Given the description of an element on the screen output the (x, y) to click on. 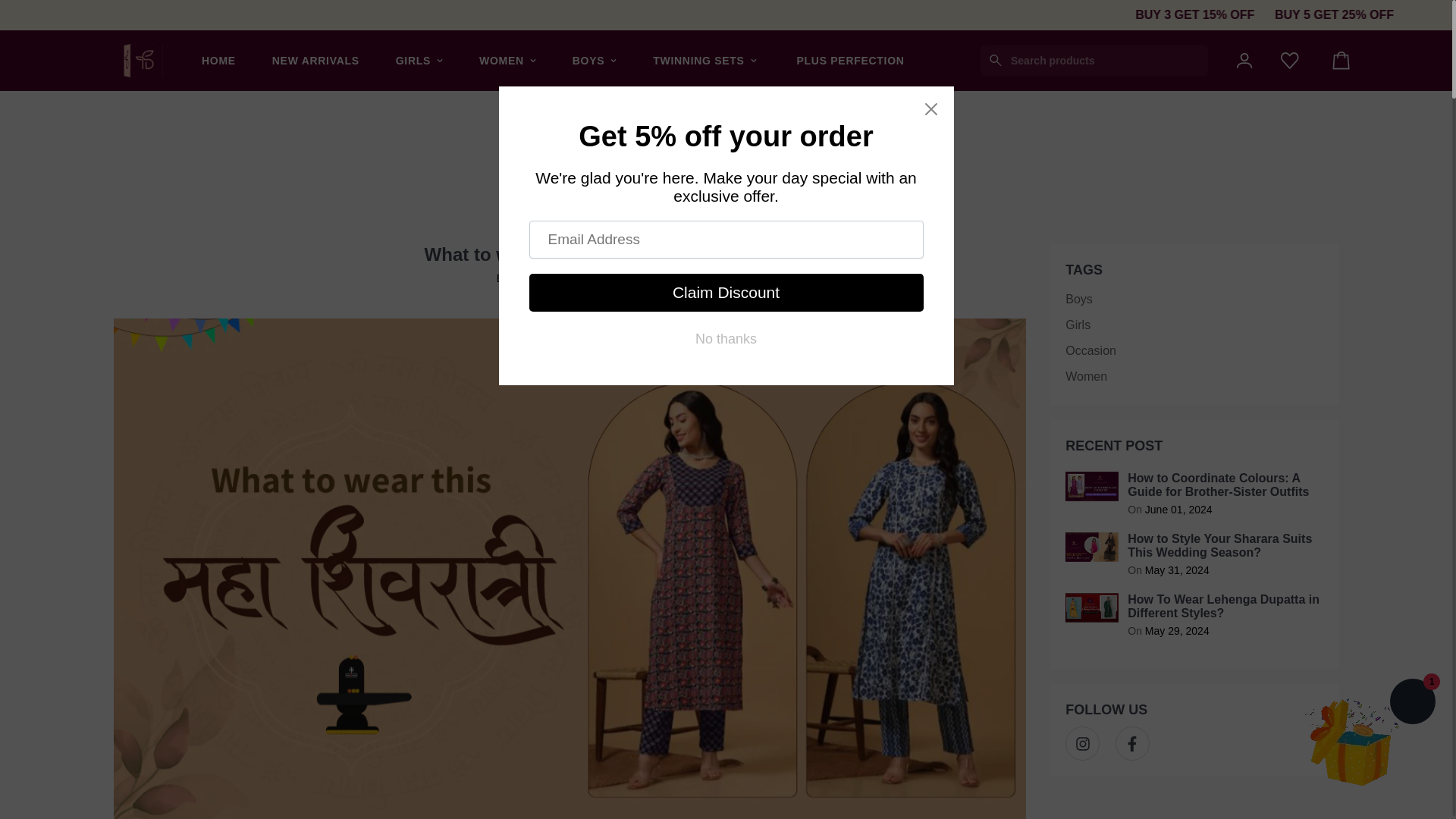
NEW ARRIVALS (315, 60)
HOME (218, 60)
WOMEN (507, 60)
BOYS (594, 60)
PLUS PERFECTION (848, 60)
Shopify online store chat (1412, 703)
GIRLS (419, 60)
TWINNING SETS (704, 60)
